Given the description of an element on the screen output the (x, y) to click on. 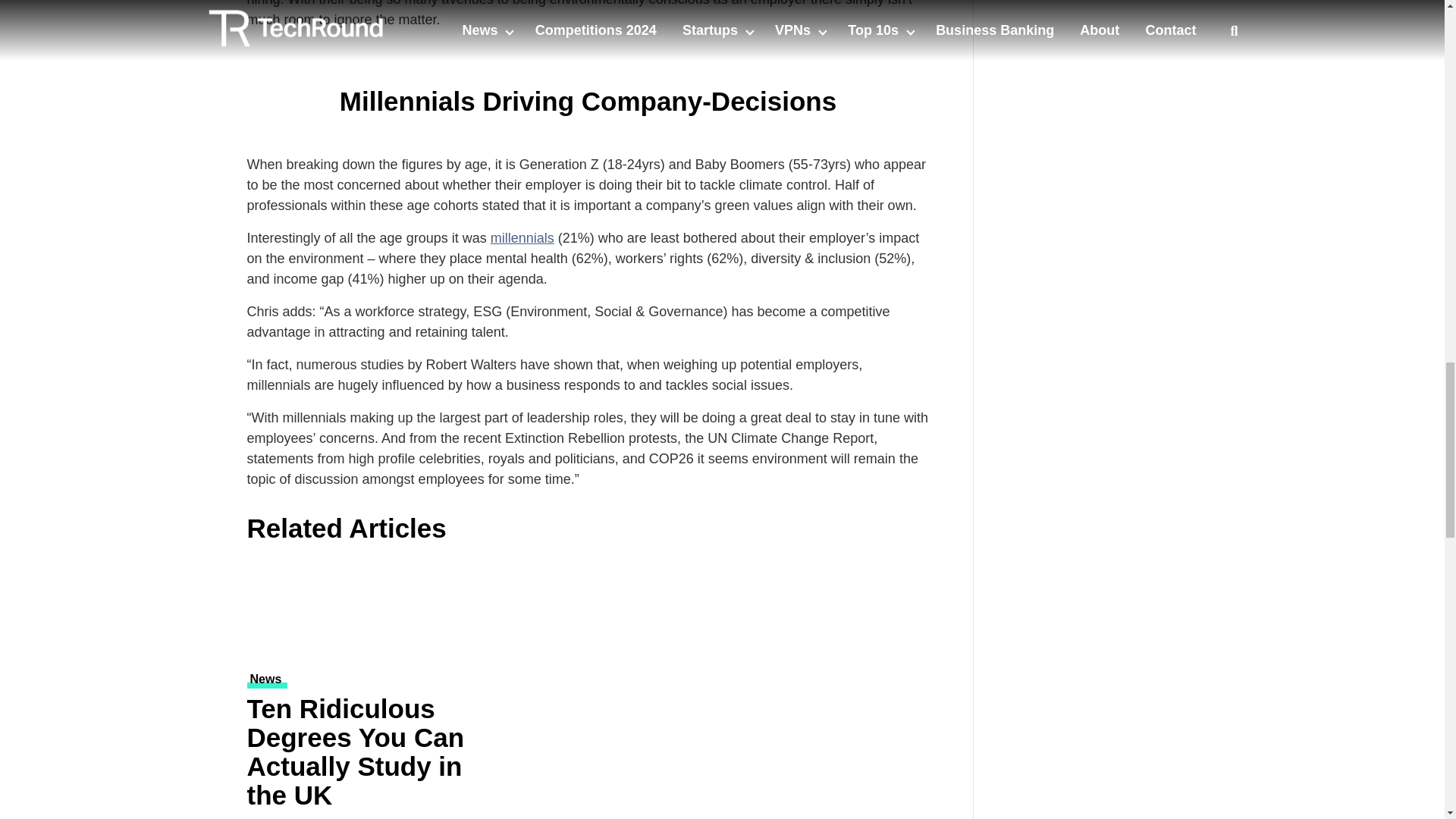
Enter The BAME Top 50 Entrepreneurs - Deadline 10th Nov 2021 (1107, 17)
Ten Ridiculous Degrees You Can Actually Study in the UK (360, 609)
Ten Ridiculous Degrees You Can Actually Study in the UK (360, 754)
